Given the description of an element on the screen output the (x, y) to click on. 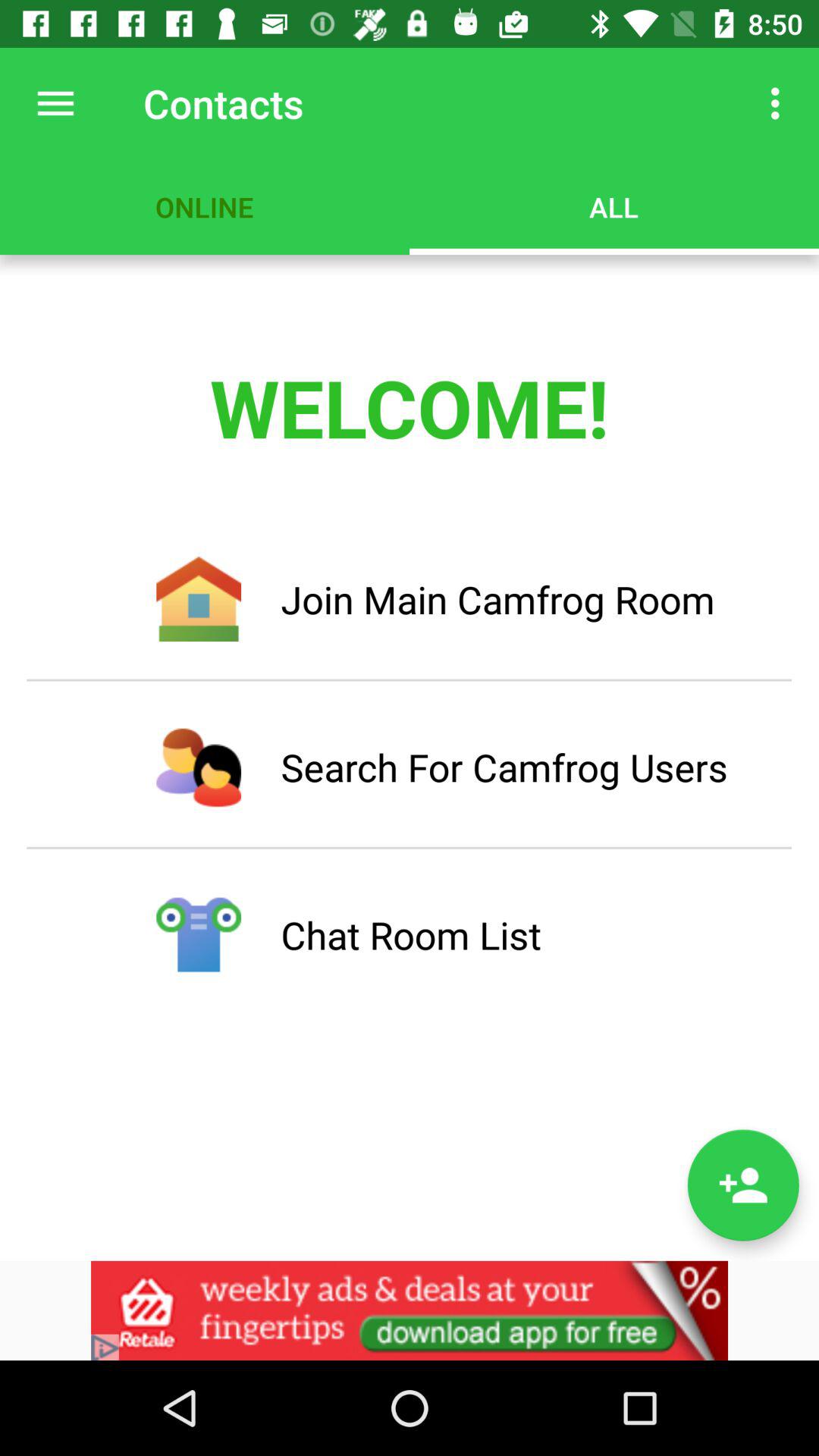
go to contacts (743, 1185)
